Given the description of an element on the screen output the (x, y) to click on. 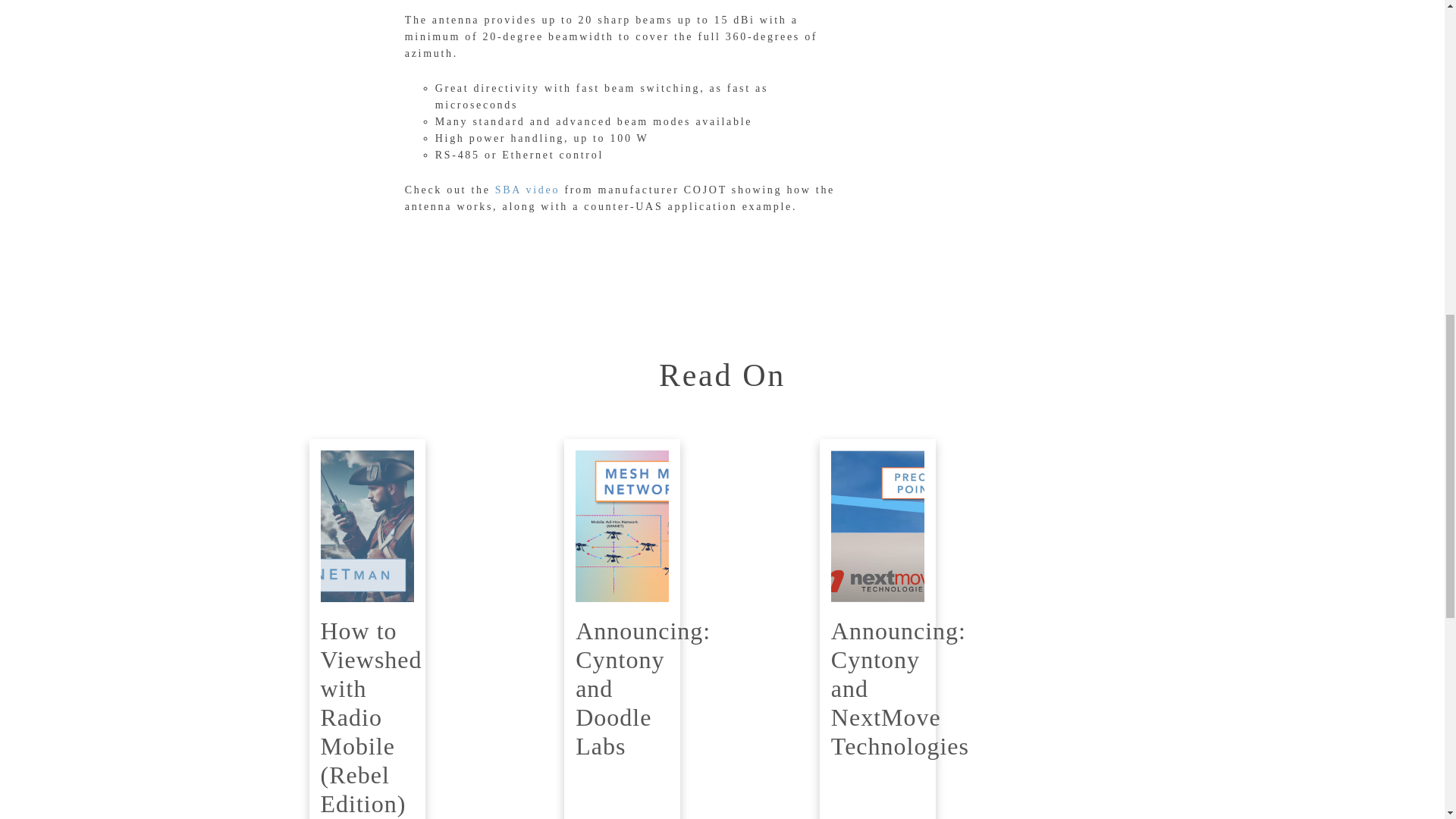
Page 1 (620, 127)
